Given the description of an element on the screen output the (x, y) to click on. 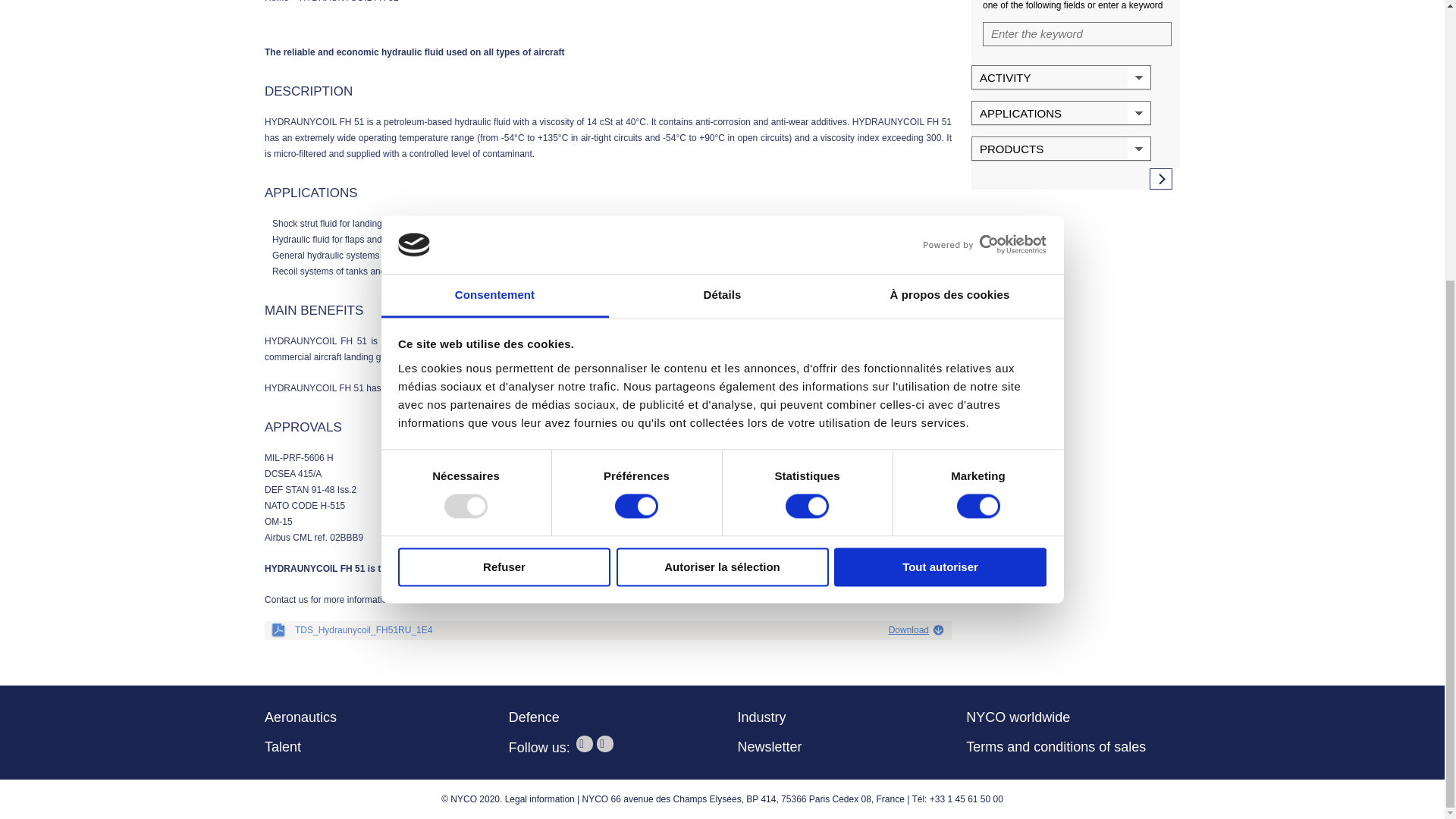
LinkedIn (604, 743)
Refuser (503, 148)
Twitter (584, 743)
Tout autoriser (940, 148)
